Given the description of an element on the screen output the (x, y) to click on. 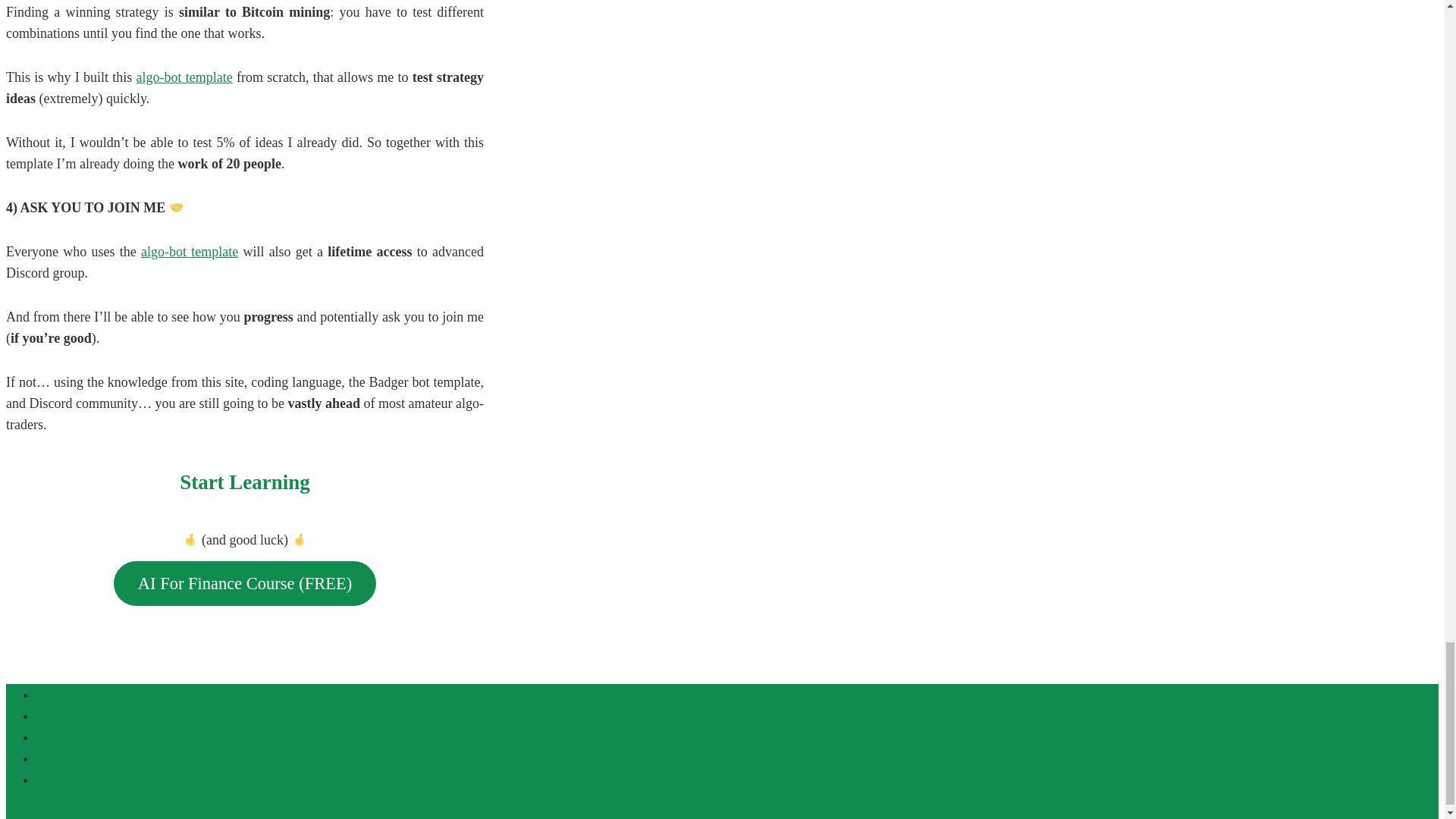
Pinterest (60, 779)
YouTube (60, 758)
Privacy Policy (76, 715)
algo-bot template (183, 77)
algo-bot template (189, 251)
Terms and Conditions (96, 736)
Blog (49, 694)
